Given the description of an element on the screen output the (x, y) to click on. 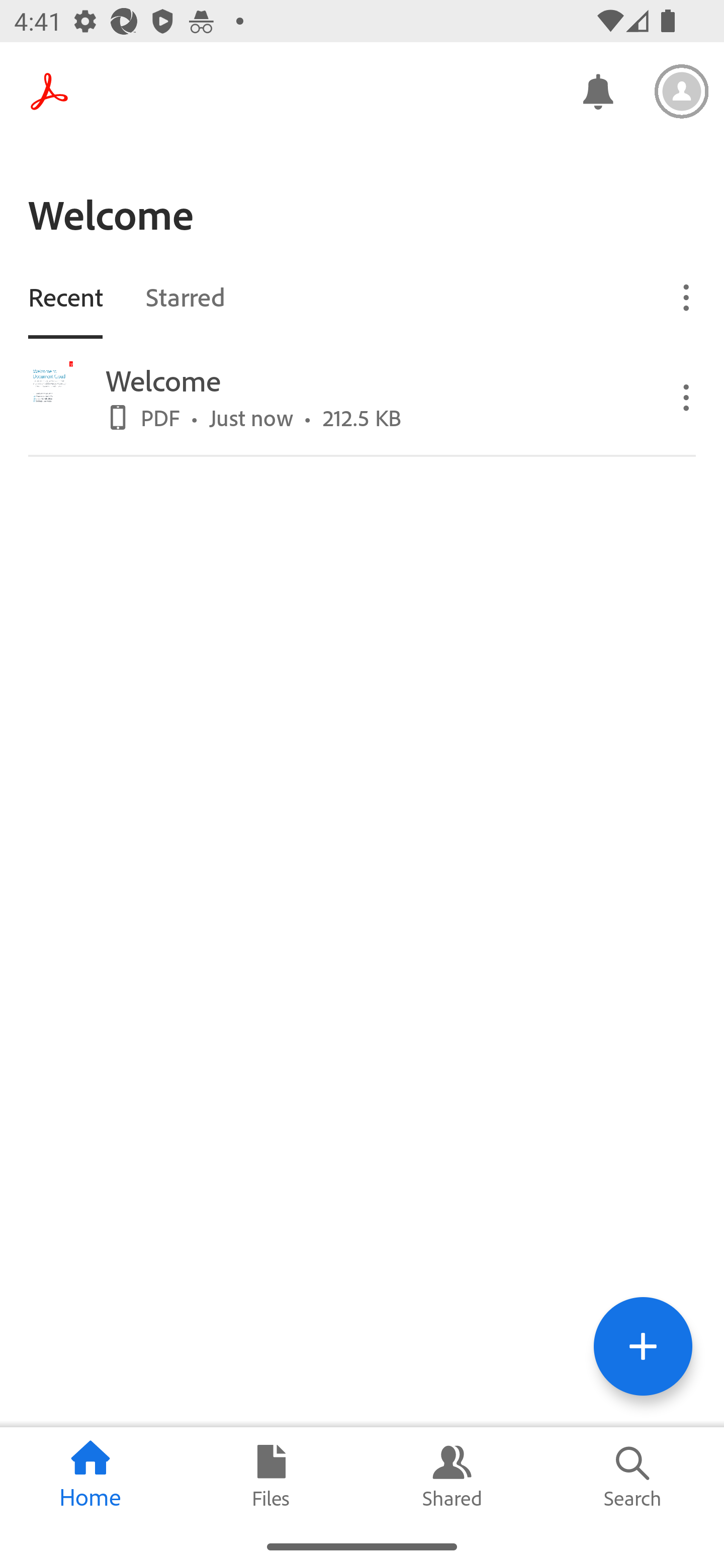
Notifications (597, 90)
Settings (681, 91)
Recent (65, 296)
Starred (185, 296)
Overflow (687, 296)
Overflow (687, 396)
Tools (642, 1345)
Home (90, 1475)
Files (271, 1475)
Shared (452, 1475)
Search (633, 1475)
